Given the description of an element on the screen output the (x, y) to click on. 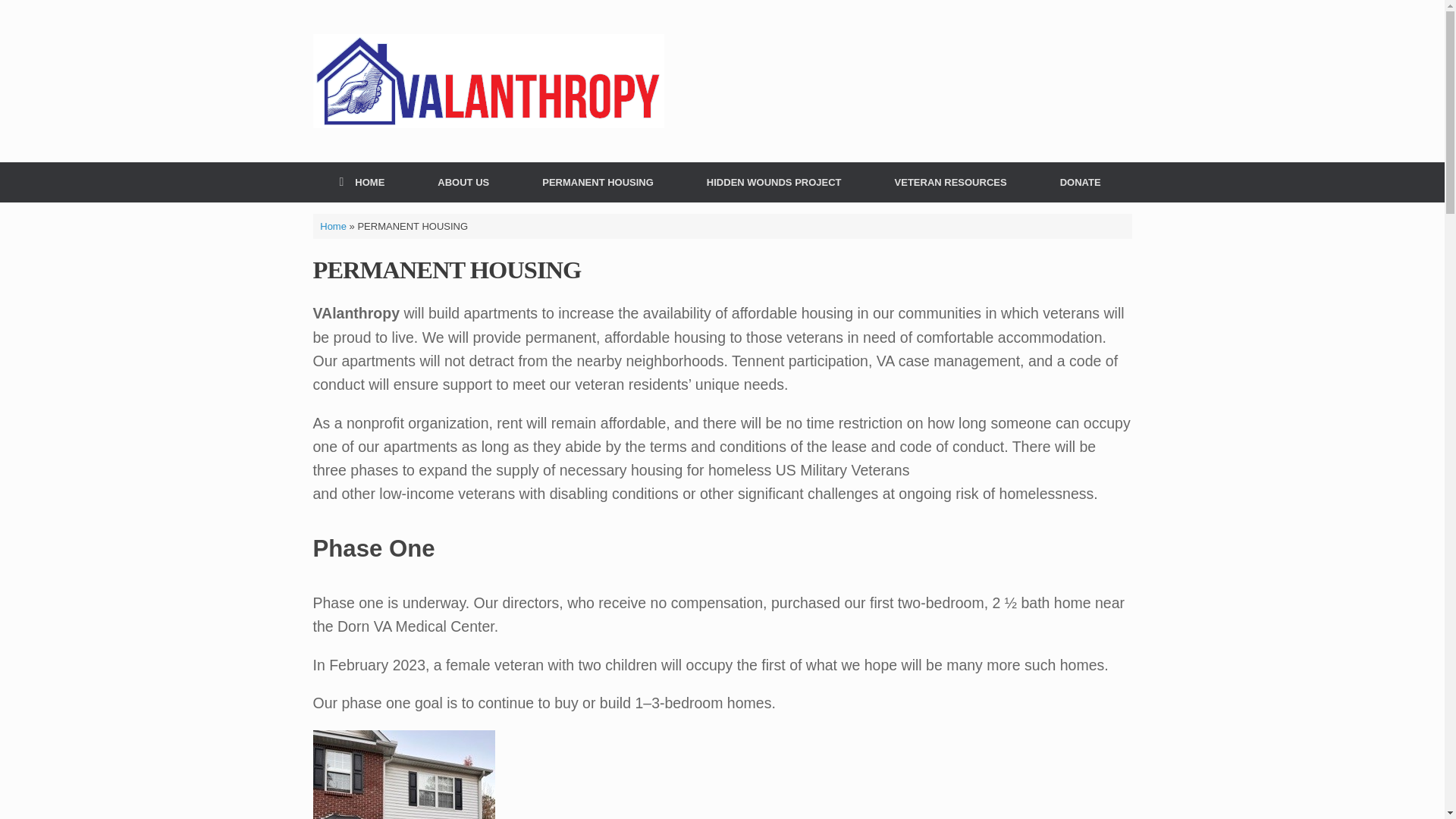
Home (333, 225)
ABOUT US (462, 182)
PERMANENT HOUSING (597, 182)
VETERAN RESOURCES (950, 182)
HOME (361, 182)
DONATE (1079, 182)
HIDDEN WOUNDS PROJECT (773, 182)
VAlanthropy (488, 80)
